Given the description of an element on the screen output the (x, y) to click on. 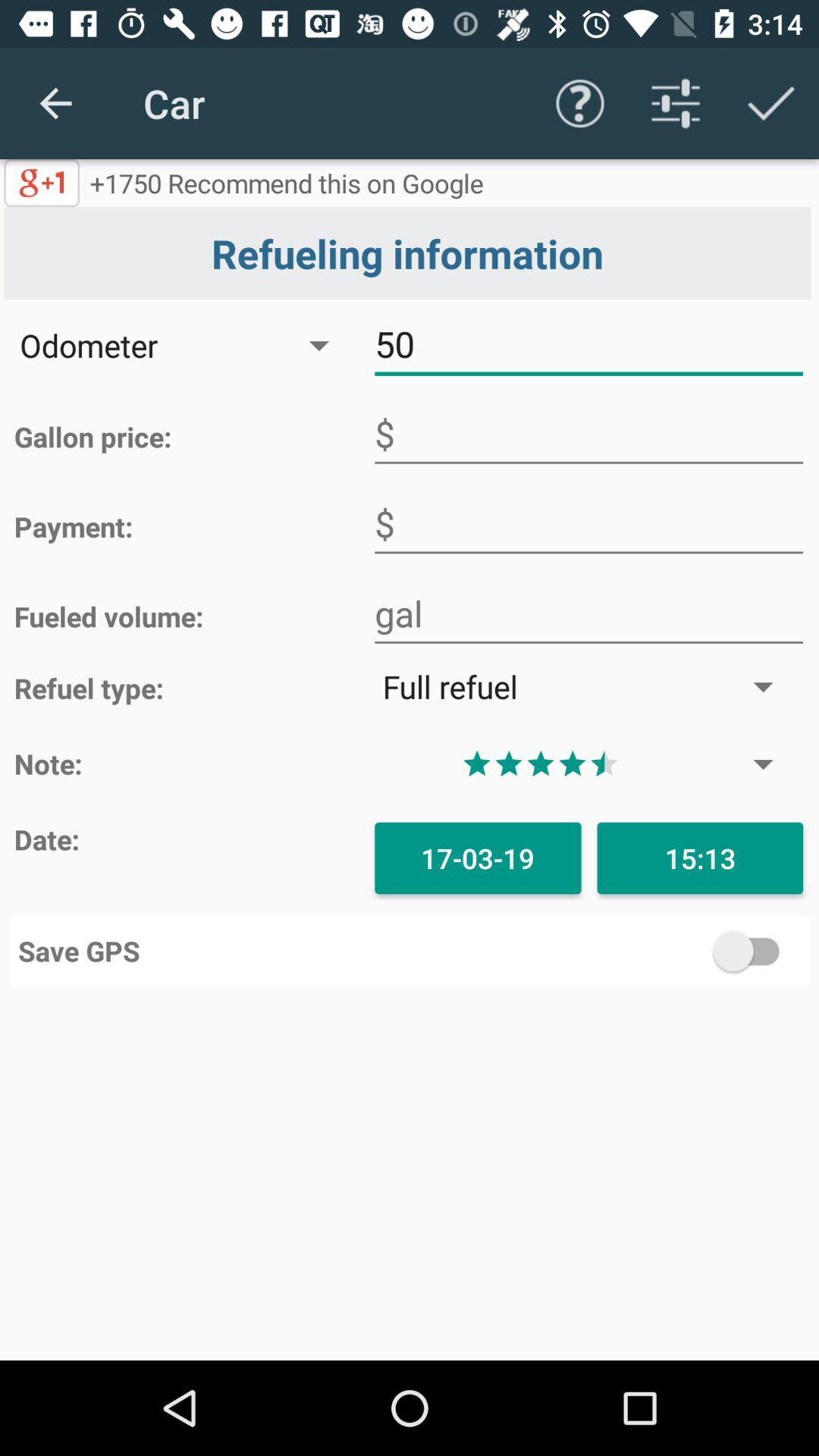
turn on the 17-03-19 icon (477, 858)
